Given the description of an element on the screen output the (x, y) to click on. 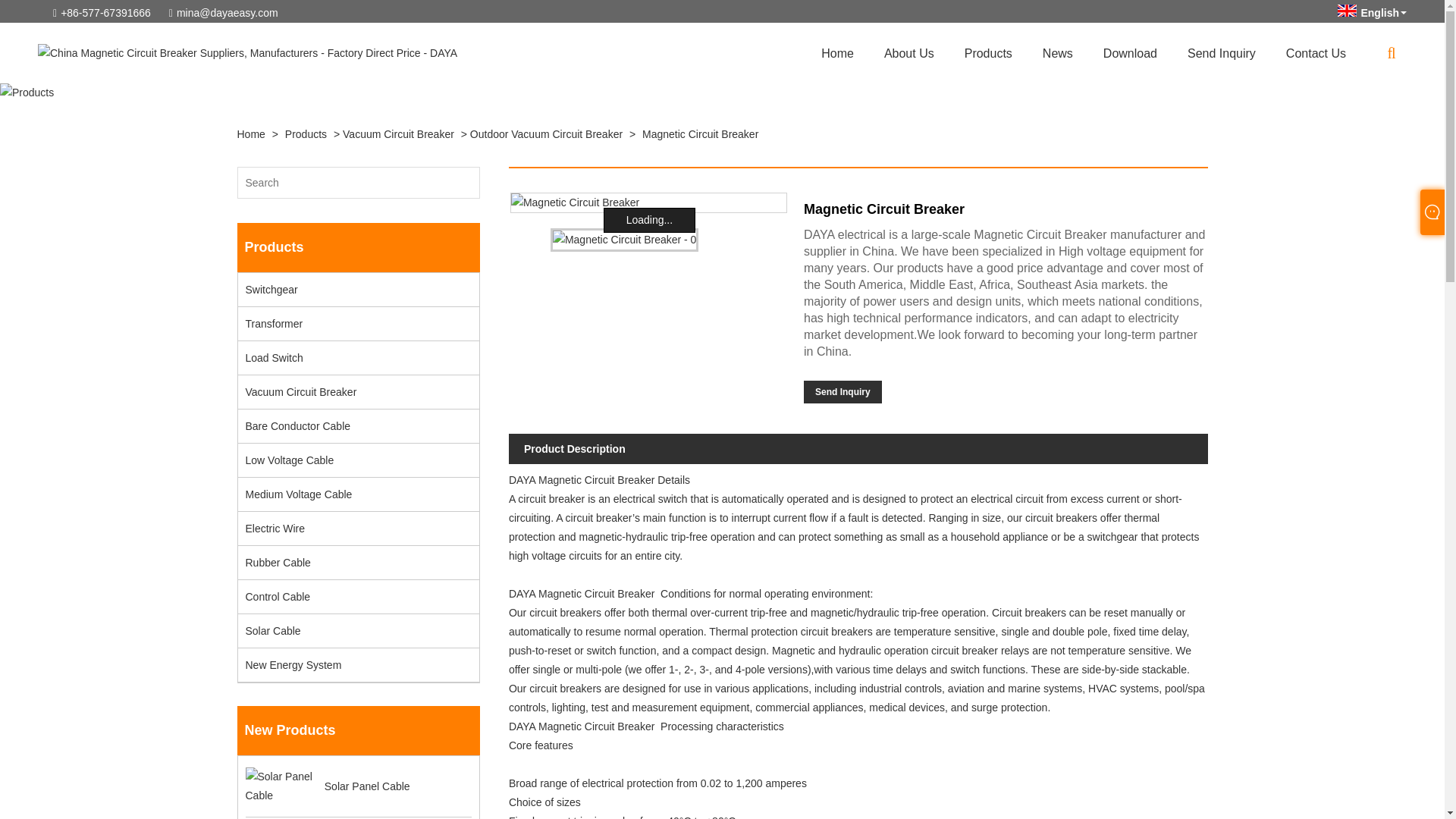
English (1372, 12)
English (1372, 12)
English (1347, 10)
